Given the description of an element on the screen output the (x, y) to click on. 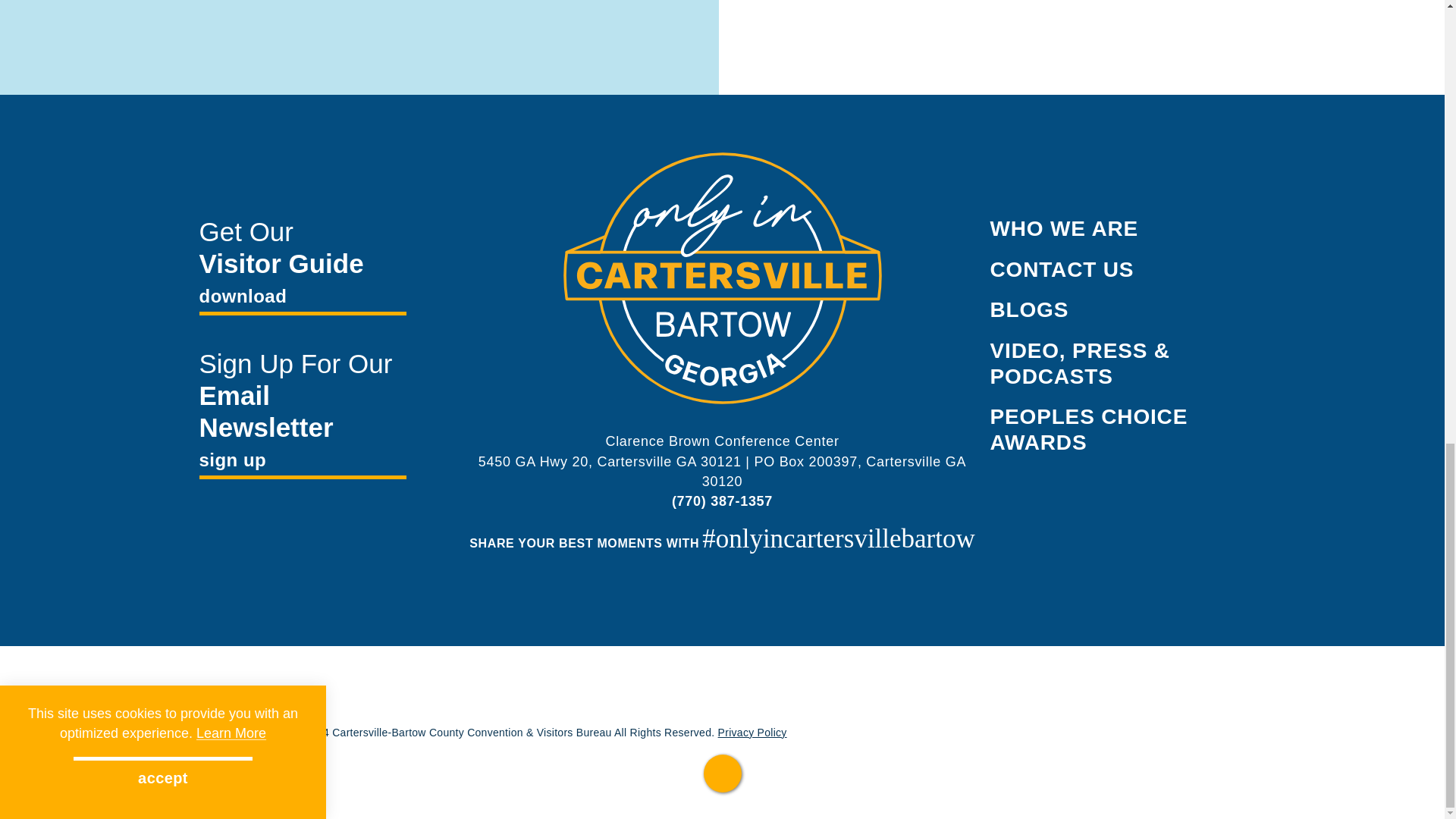
CONTACT US (1062, 269)
BLOGS (1029, 309)
sign up (302, 462)
WHO WE ARE (1064, 228)
PEOPLES CHOICE AWARDS (1089, 429)
download (302, 298)
Privacy Policy (752, 732)
